Given the description of an element on the screen output the (x, y) to click on. 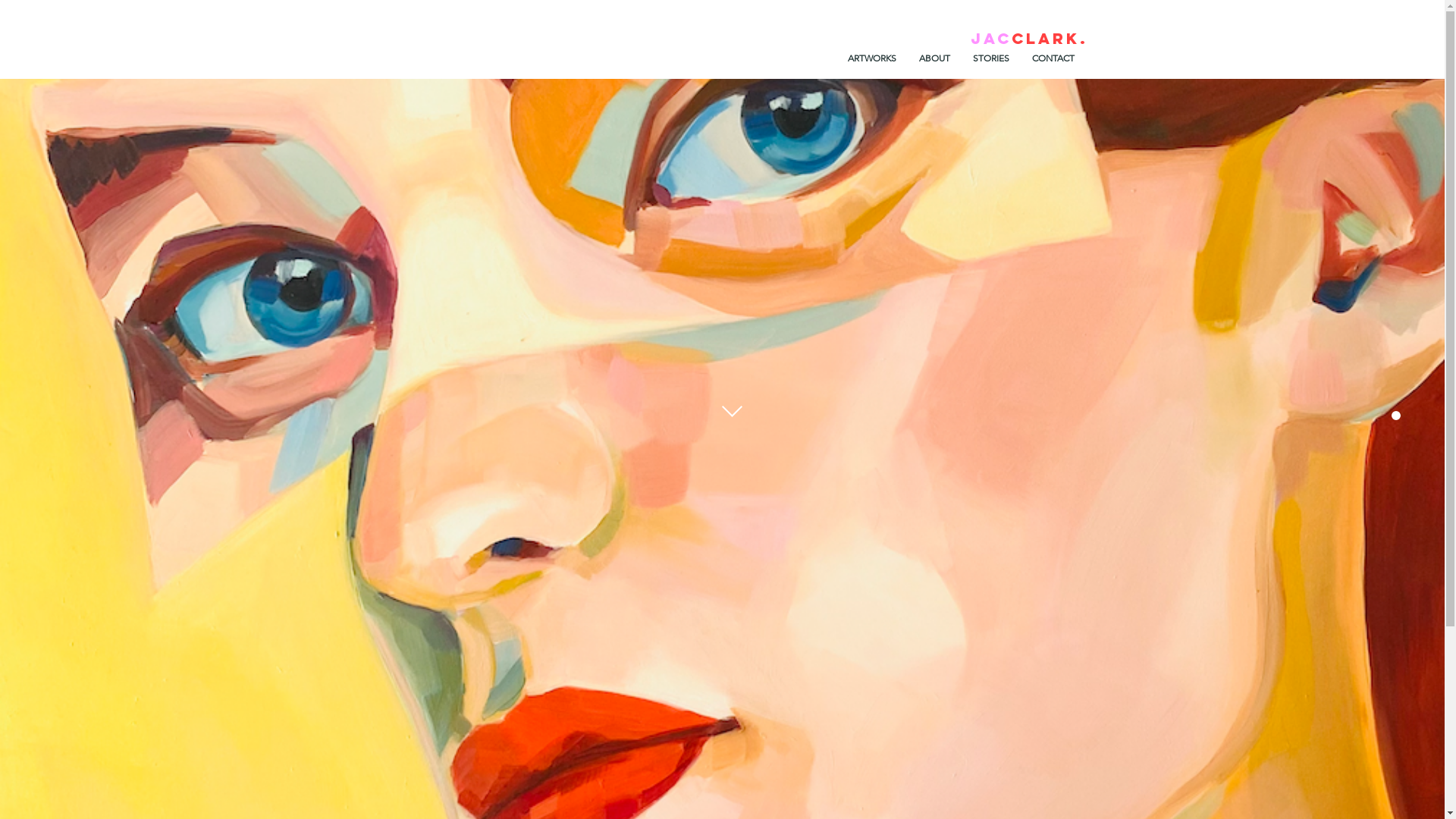
ABOUT Element type: text (933, 57)
CONTACT Element type: text (1052, 57)
ARTWORKS Element type: text (870, 57)
STORIES Element type: text (990, 57)
JacClark. Element type: text (1029, 37)
